Given the description of an element on the screen output the (x, y) to click on. 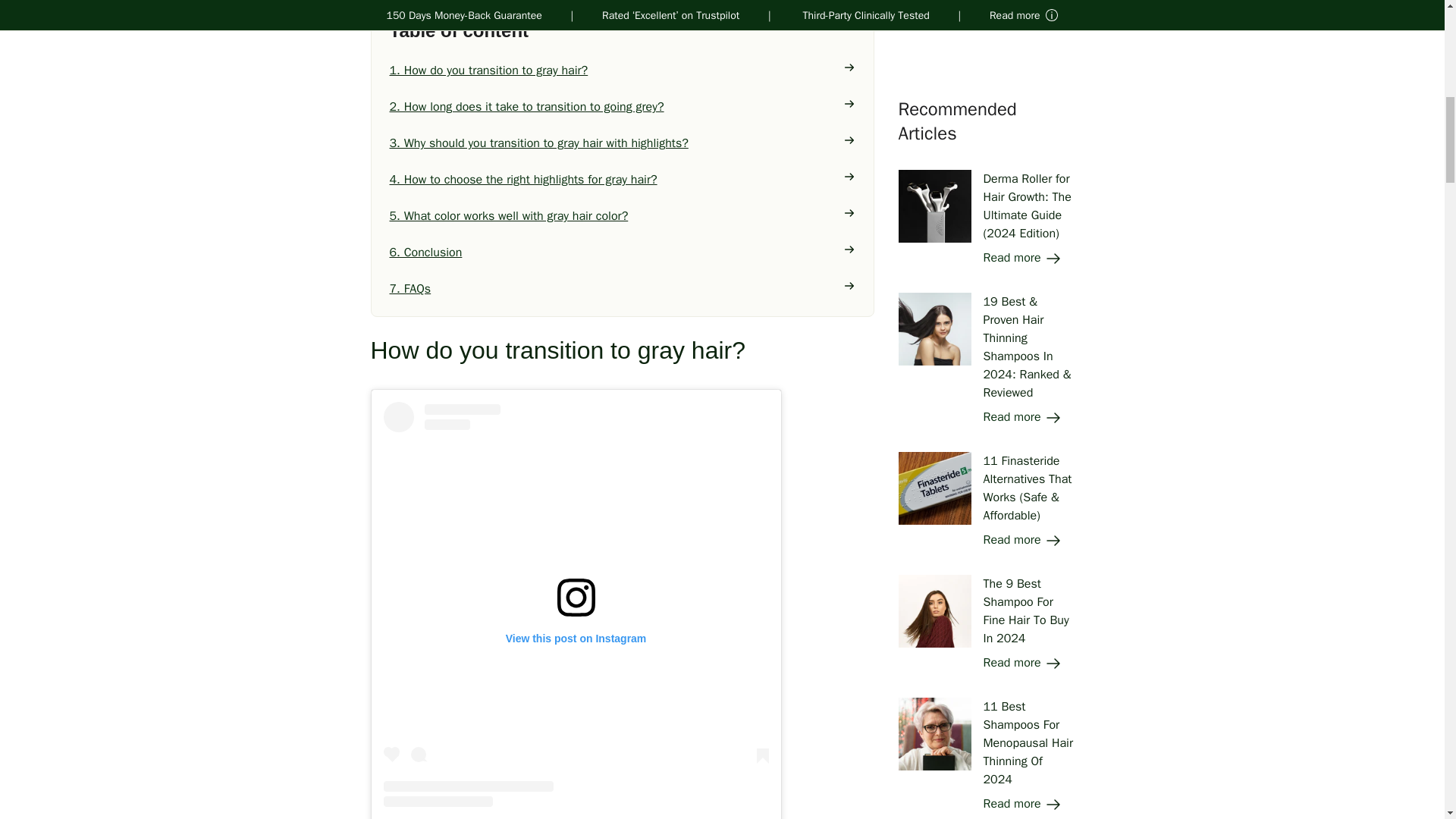
7. FAQs (623, 289)
3. Why should you transition to gray hair with highlights? (623, 143)
5. What color works well with gray hair color? (623, 216)
6. Conclusion (623, 252)
1. How do you transition to gray hair? (623, 70)
2. How long does it take to transition to going grey? (623, 106)
4. How to choose the right highlights for gray hair? (623, 179)
Read more (1022, 15)
